Given the description of an element on the screen output the (x, y) to click on. 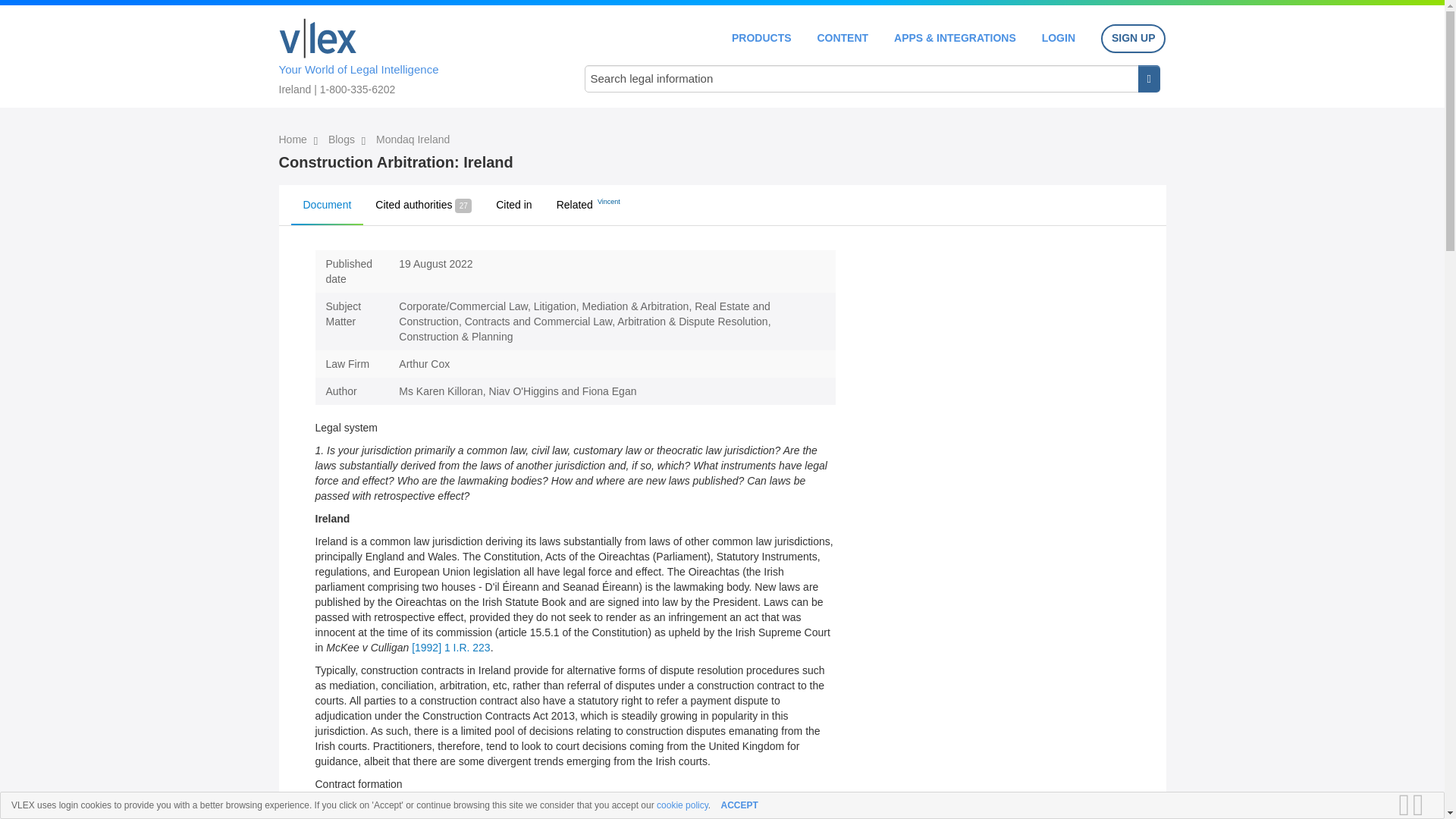
CONTENT (841, 37)
SIGN UP (1133, 38)
Home (294, 139)
Blogs (343, 139)
Mondaq Ireland (412, 139)
Home (317, 38)
LOGIN (1058, 37)
Your World of Legal Intelligence (416, 53)
PRODUCTS (762, 37)
